Given the description of an element on the screen output the (x, y) to click on. 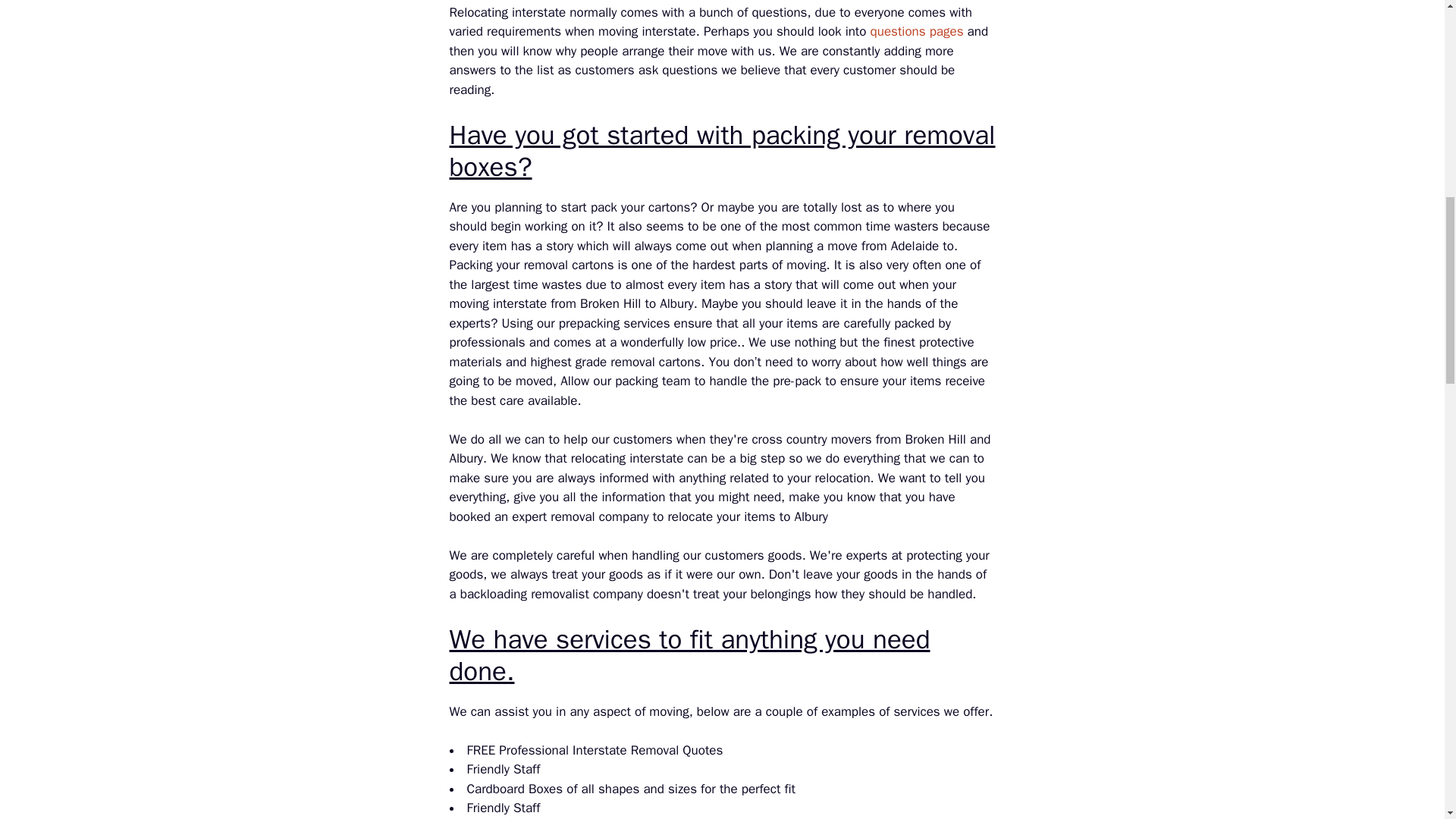
Scroll back to top (1406, 720)
questions pages (916, 31)
